Given the description of an element on the screen output the (x, y) to click on. 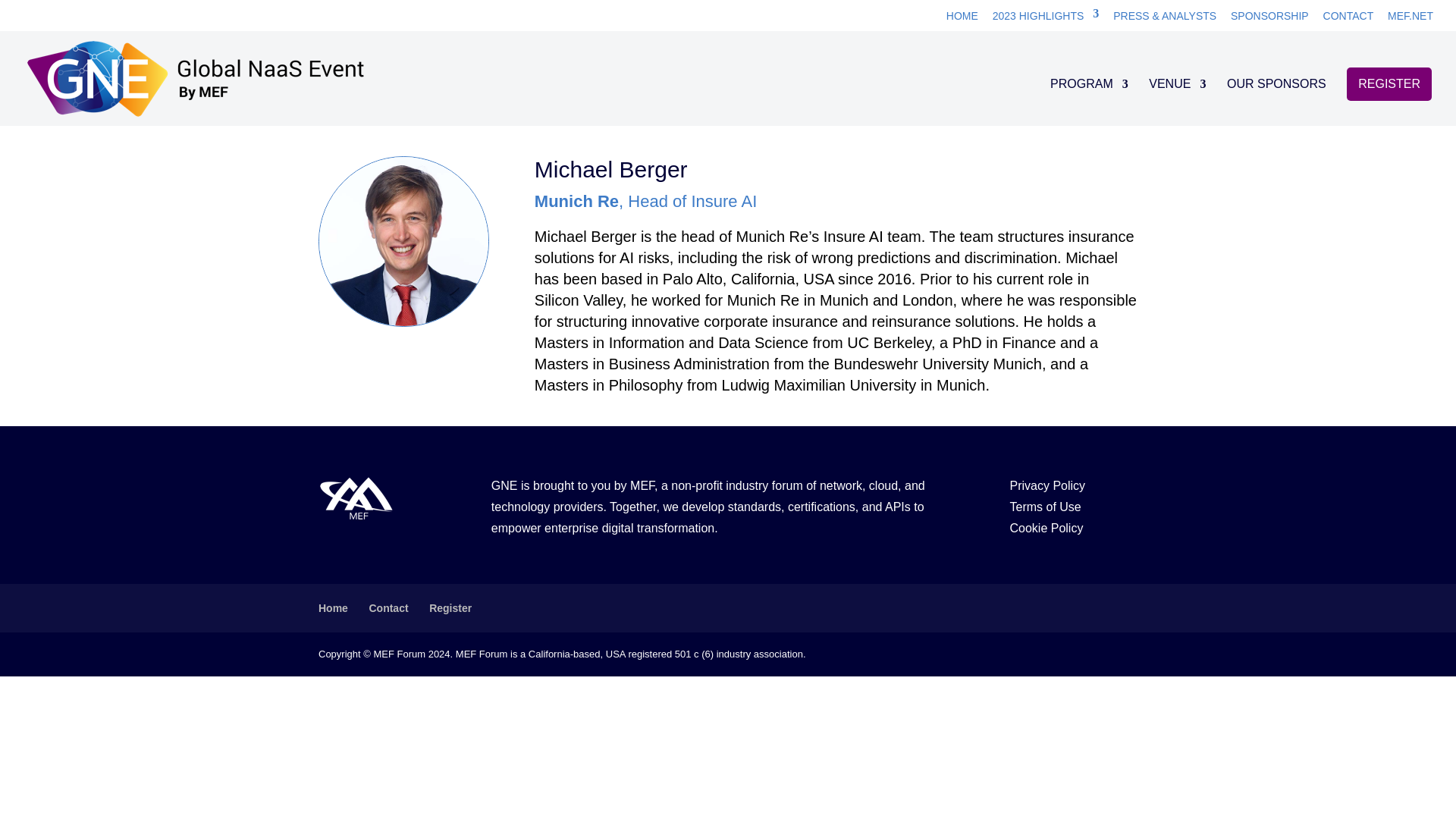
MEF.NET (1409, 19)
REGISTER (1388, 83)
HOME (962, 19)
OUR SPONSORS (1276, 100)
CONTACT (1348, 19)
2023 HIGHLIGHTS (1045, 19)
PROGRAM (1088, 100)
VENUE (1176, 100)
SPONSORSHIP (1269, 19)
GNE-Speaker-Michael-Berger (402, 241)
